Given the description of an element on the screen output the (x, y) to click on. 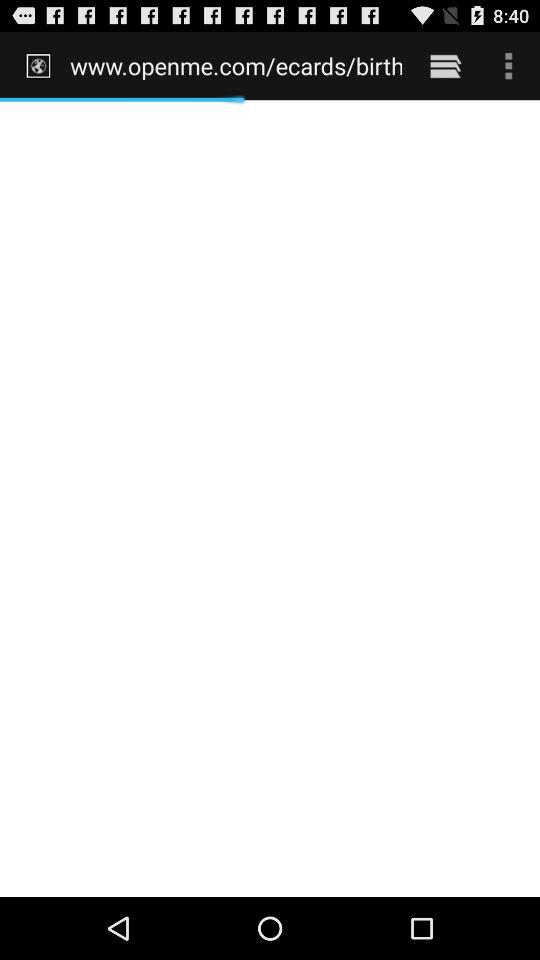
turn off the icon at the center (270, 497)
